Given the description of an element on the screen output the (x, y) to click on. 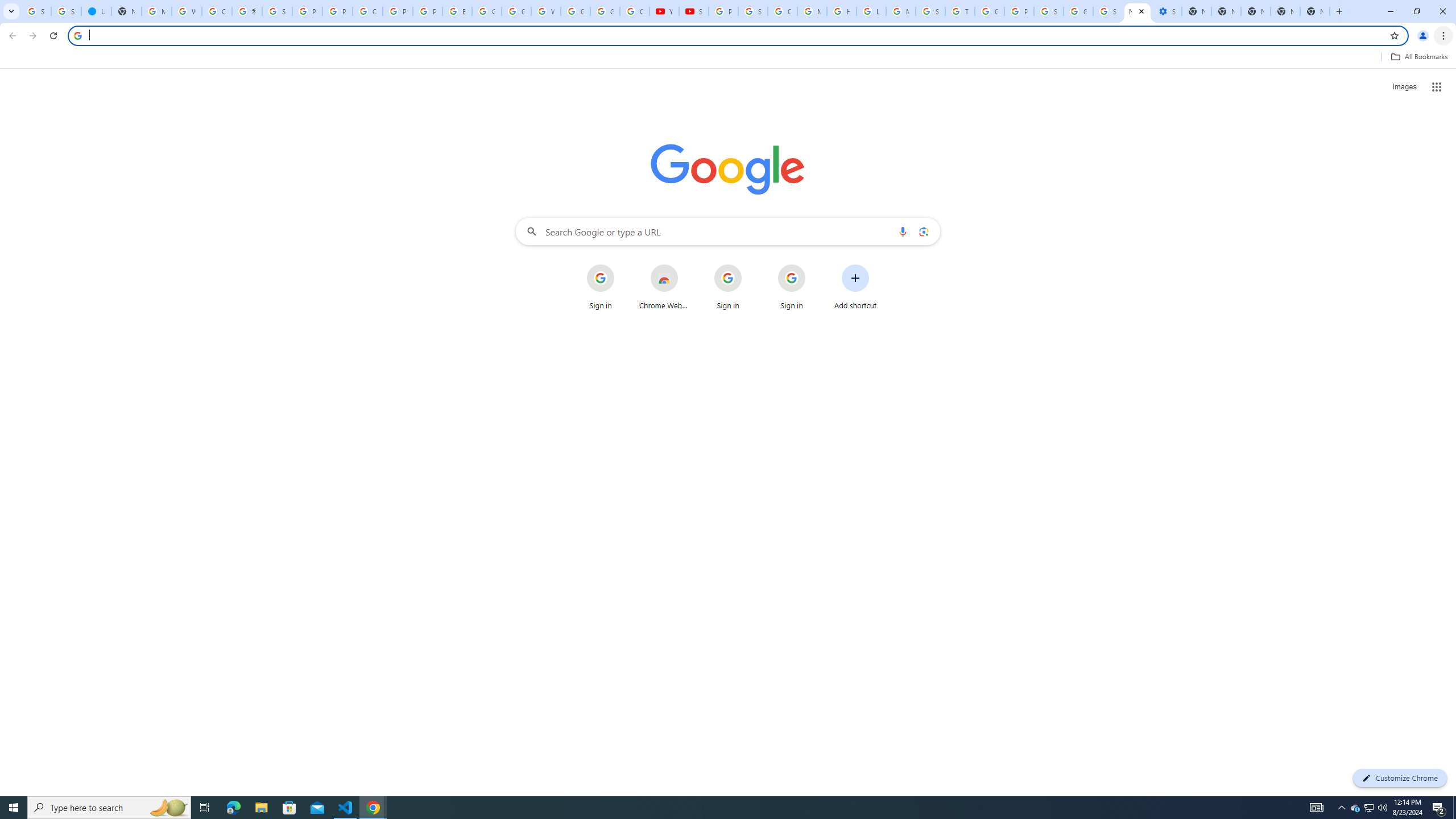
USA TODAY (95, 11)
More actions for Sign in shortcut (814, 265)
YouTube (664, 11)
Create your Google Account (367, 11)
